Given the description of an element on the screen output the (x, y) to click on. 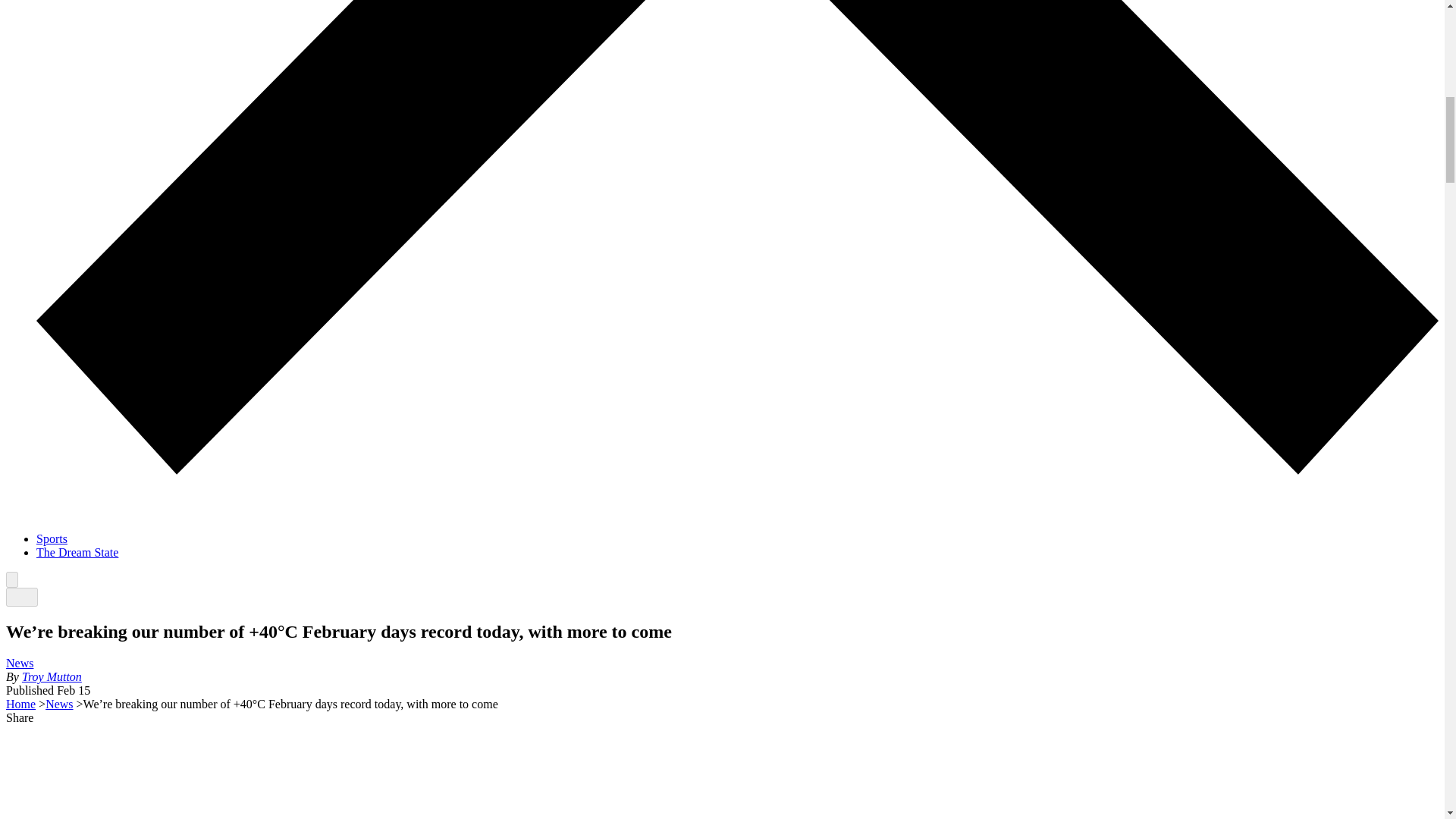
Sports (51, 538)
News (58, 703)
Home (19, 703)
News (19, 662)
Troy Mutton (51, 676)
The Dream State (76, 552)
